Given the description of an element on the screen output the (x, y) to click on. 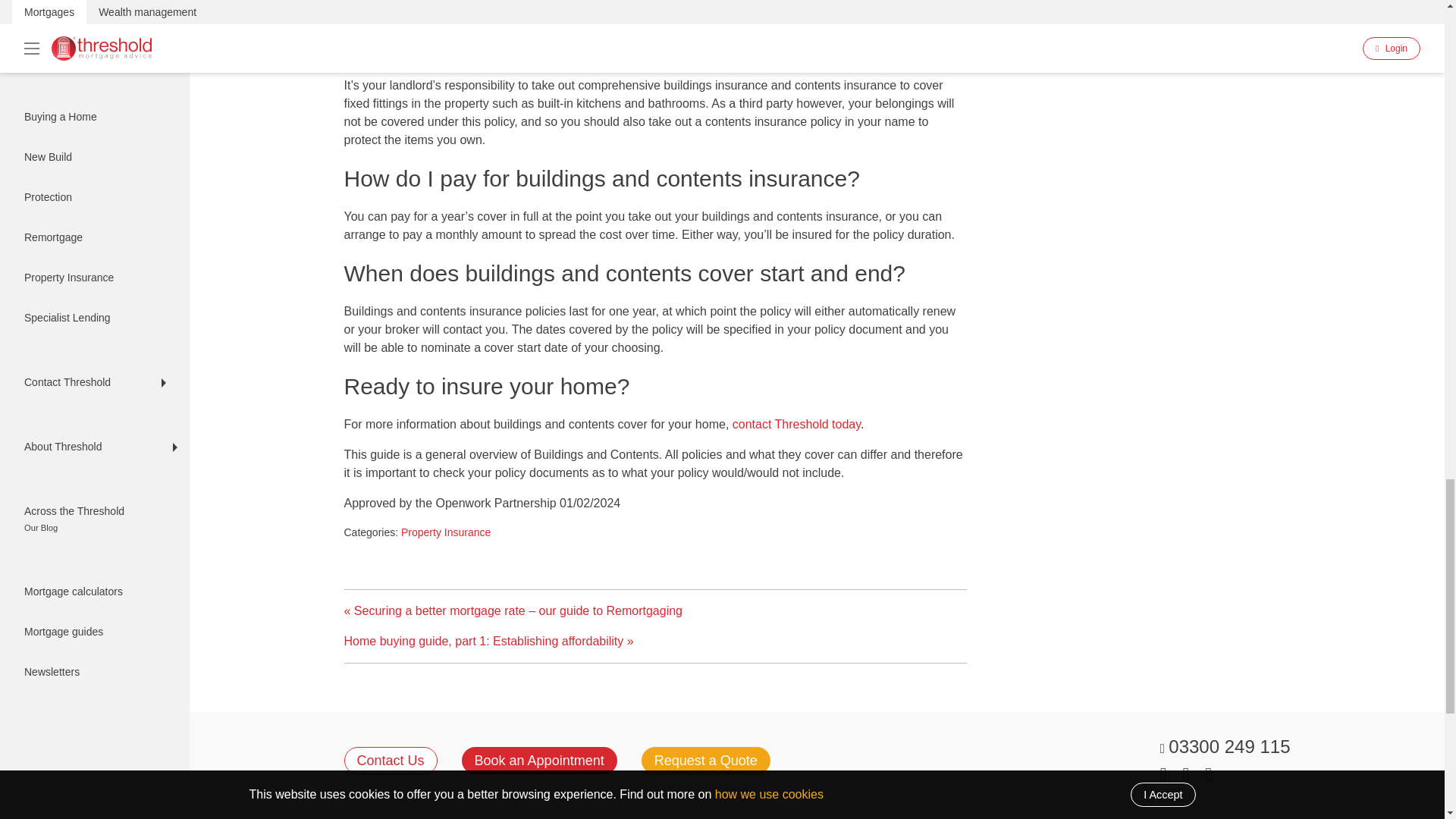
contact Threshold today (796, 422)
Property Insurance (445, 532)
